Given the description of an element on the screen output the (x, y) to click on. 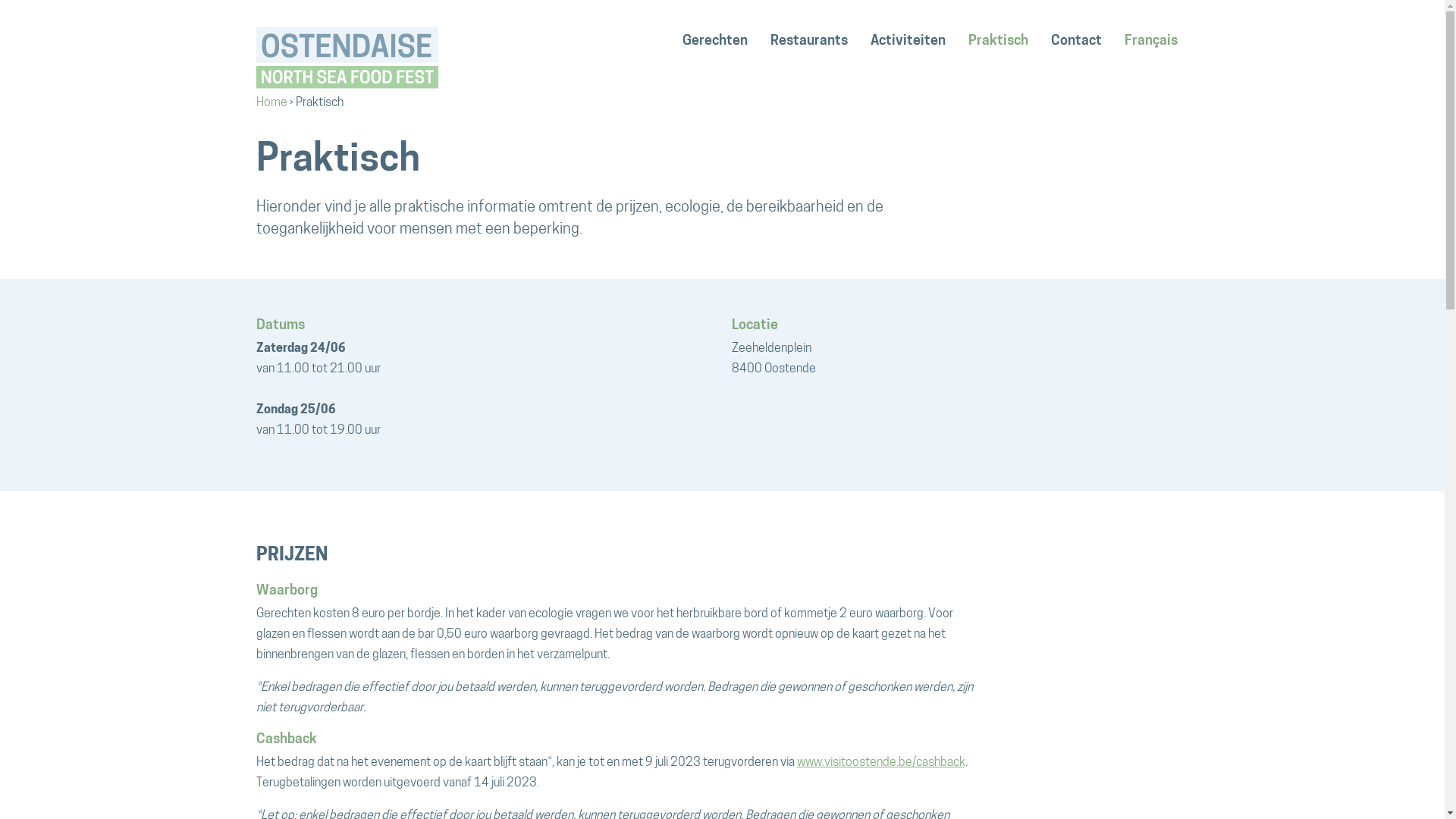
Gerechten Element type: text (713, 41)
Home Element type: text (271, 103)
Activiteiten Element type: text (907, 41)
Praktisch Element type: text (998, 41)
Overslaan en naar de inhoud gaan Element type: text (0, 0)
Contact Element type: text (1075, 41)
Restaurants Element type: text (807, 41)
www.visitoostende.be/cashback Element type: text (880, 762)
